Given the description of an element on the screen output the (x, y) to click on. 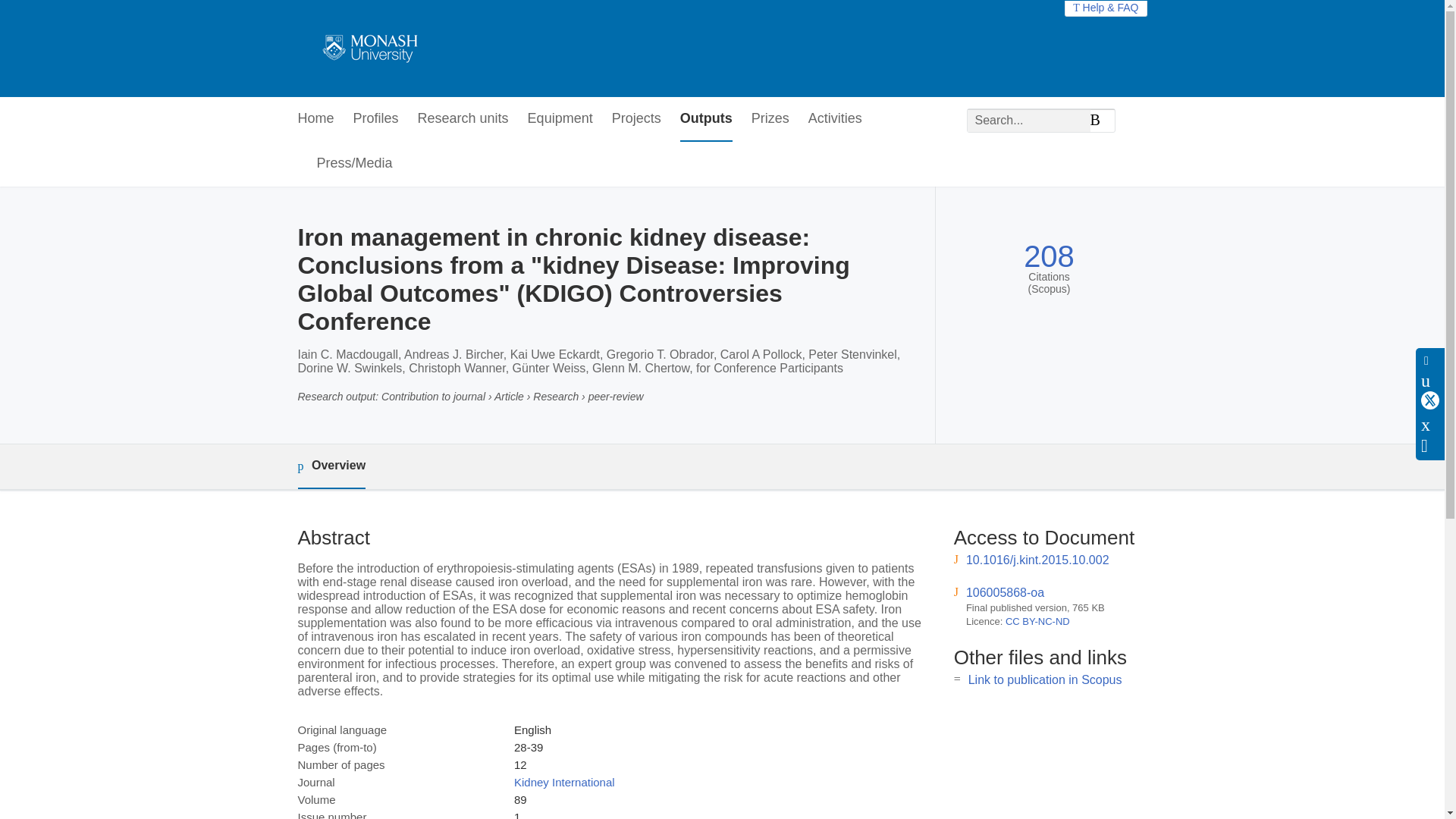
Outputs (705, 119)
208 (1048, 256)
Profiles (375, 119)
Monash University Home (366, 48)
Research units (462, 119)
Kidney International (563, 781)
Overview (331, 466)
Link to publication in Scopus (1045, 679)
106005868-oa (1004, 592)
